Given the description of an element on the screen output the (x, y) to click on. 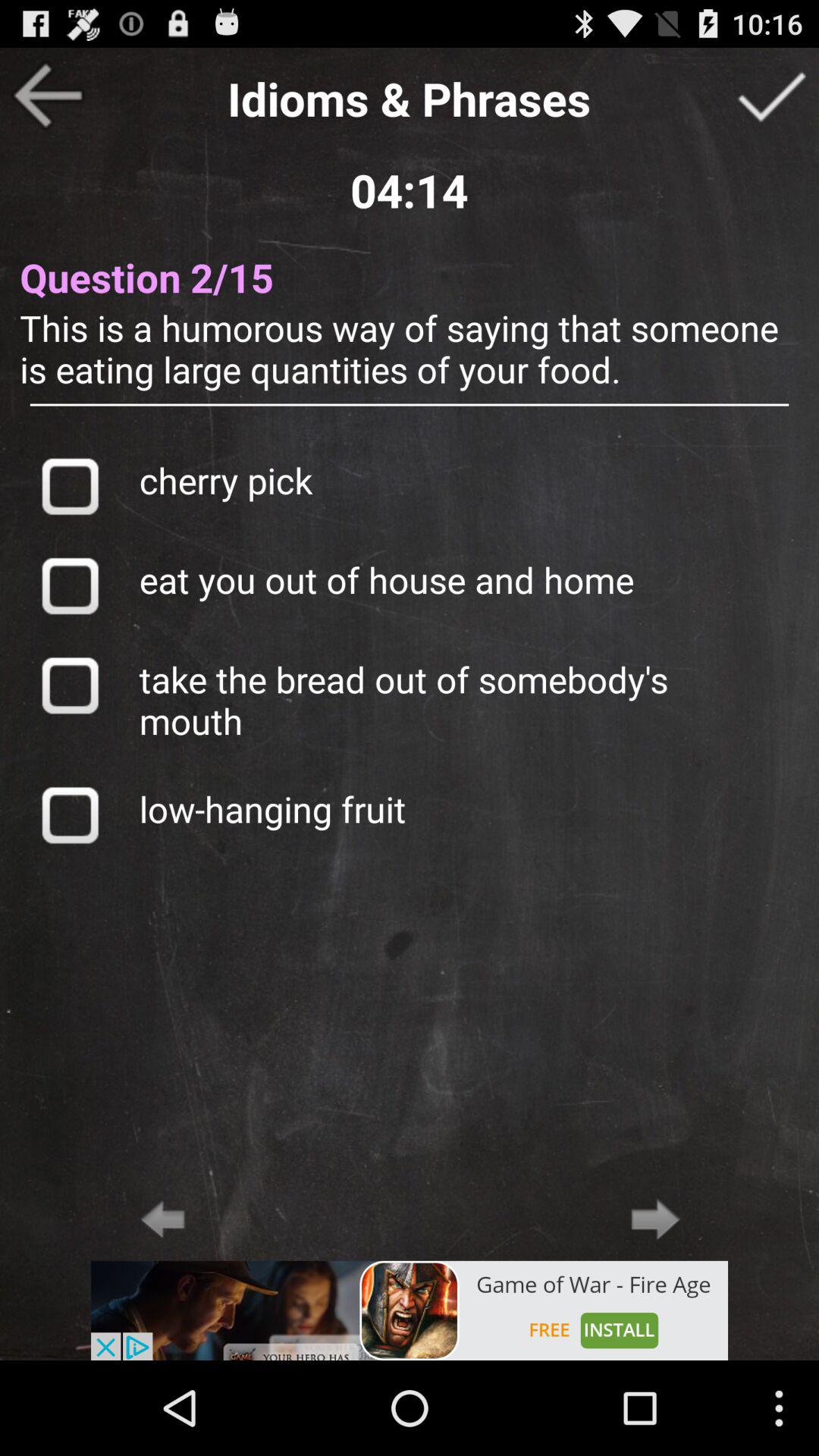
selects answer (69, 585)
